Given the description of an element on the screen output the (x, y) to click on. 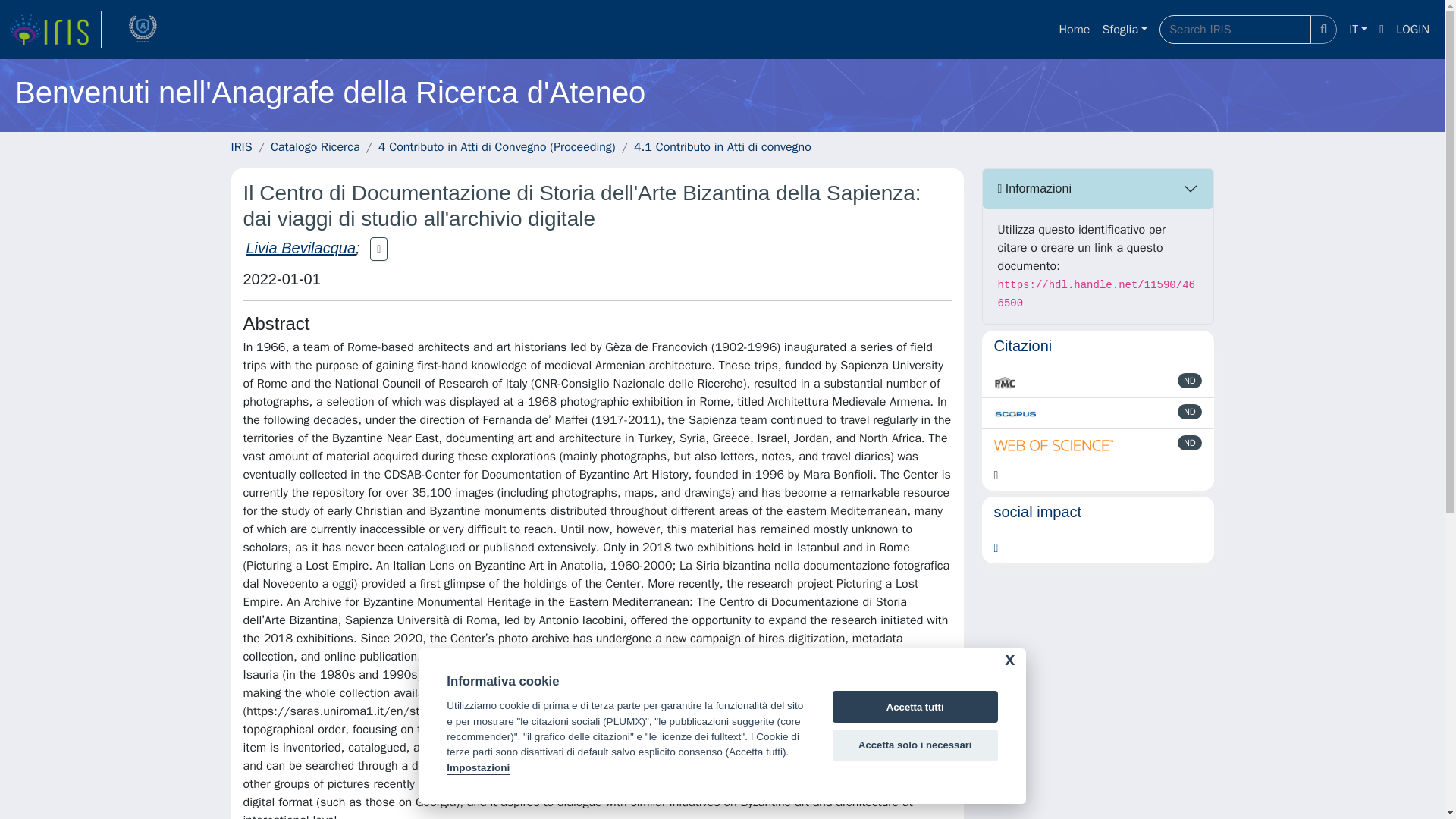
Catalogo Ricerca (314, 146)
IRIS (240, 146)
 Informazioni (1097, 188)
Home (1074, 29)
Livia Bevilacqua (300, 247)
4.1 Contributo in Atti di convegno (721, 146)
IT (1357, 29)
LOGIN (1412, 29)
Sfoglia (1124, 29)
